Given the description of an element on the screen output the (x, y) to click on. 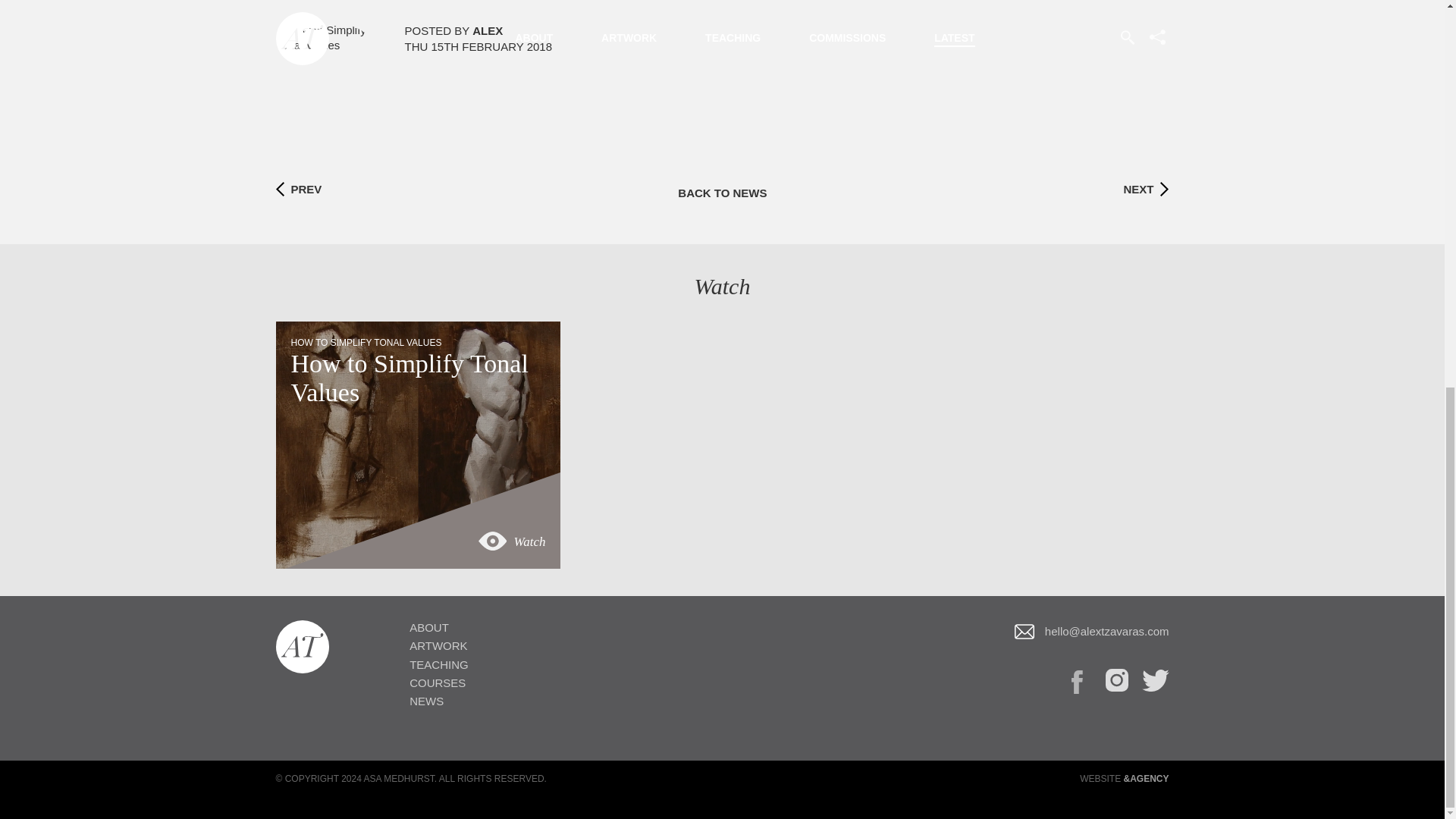
NEWS (426, 701)
ABOUT (428, 627)
NEXT (1138, 189)
ARTWORK (438, 646)
BACK TO NEWS (722, 192)
COURSES (437, 683)
TEACHING (438, 665)
PREV (306, 189)
